Given the description of an element on the screen output the (x, y) to click on. 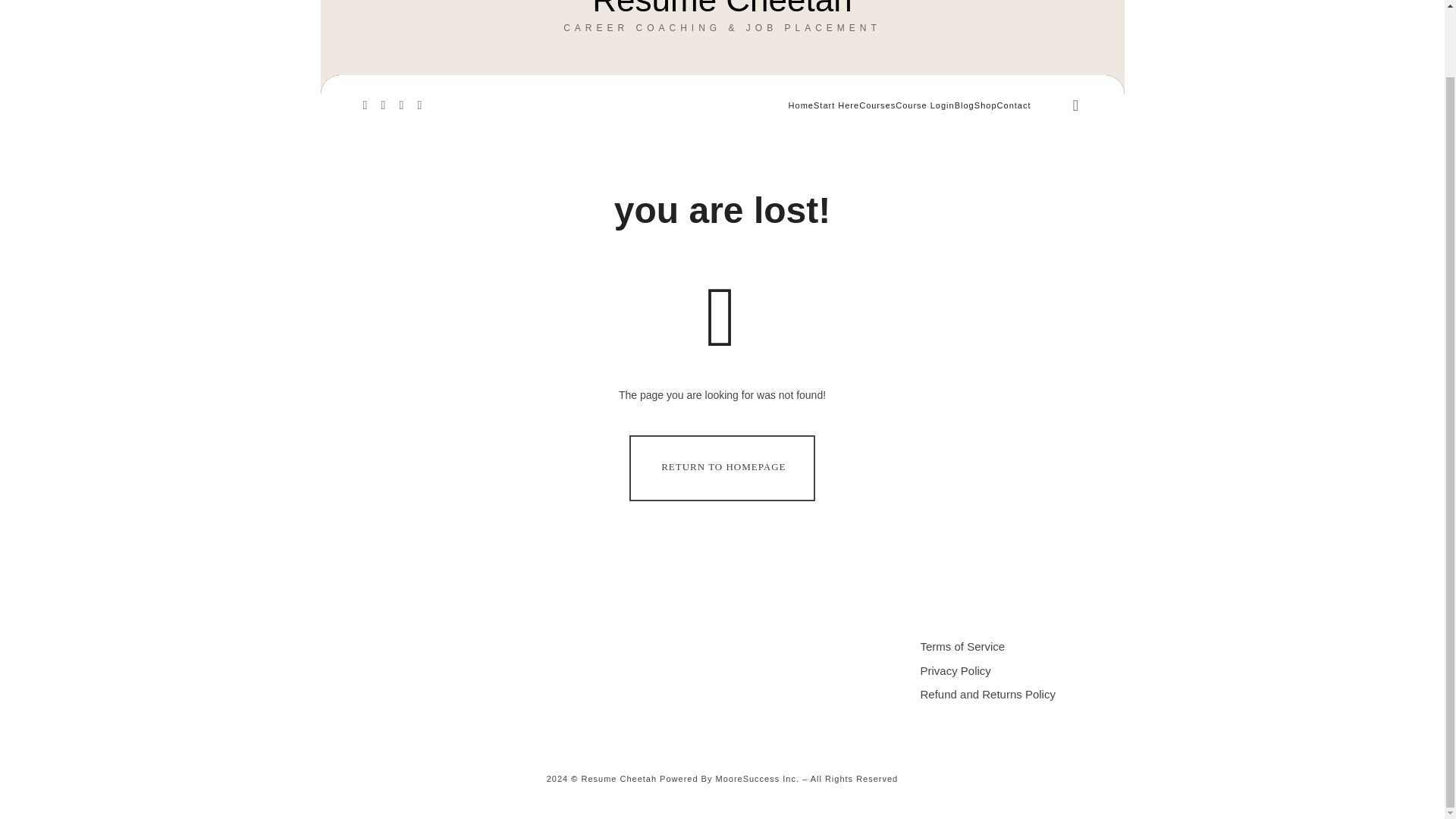
Refund and Returns Policy (987, 694)
Terms of Service (963, 645)
RETURN TO HOMEPAGE (721, 7)
Course Login (720, 467)
Privacy Policy (924, 105)
